Given the description of an element on the screen output the (x, y) to click on. 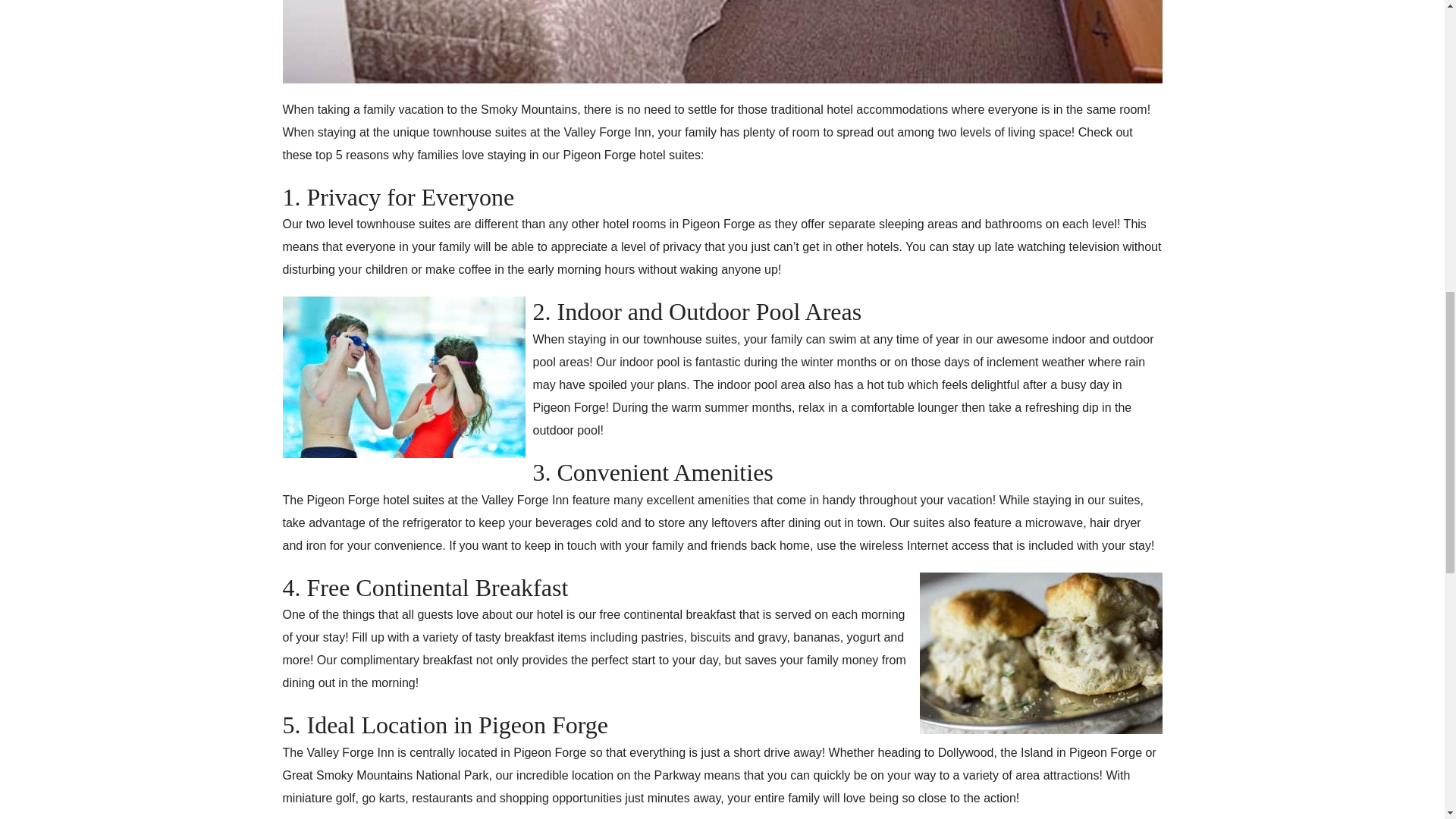
Island in Pigeon Forge (1080, 752)
